Given the description of an element on the screen output the (x, y) to click on. 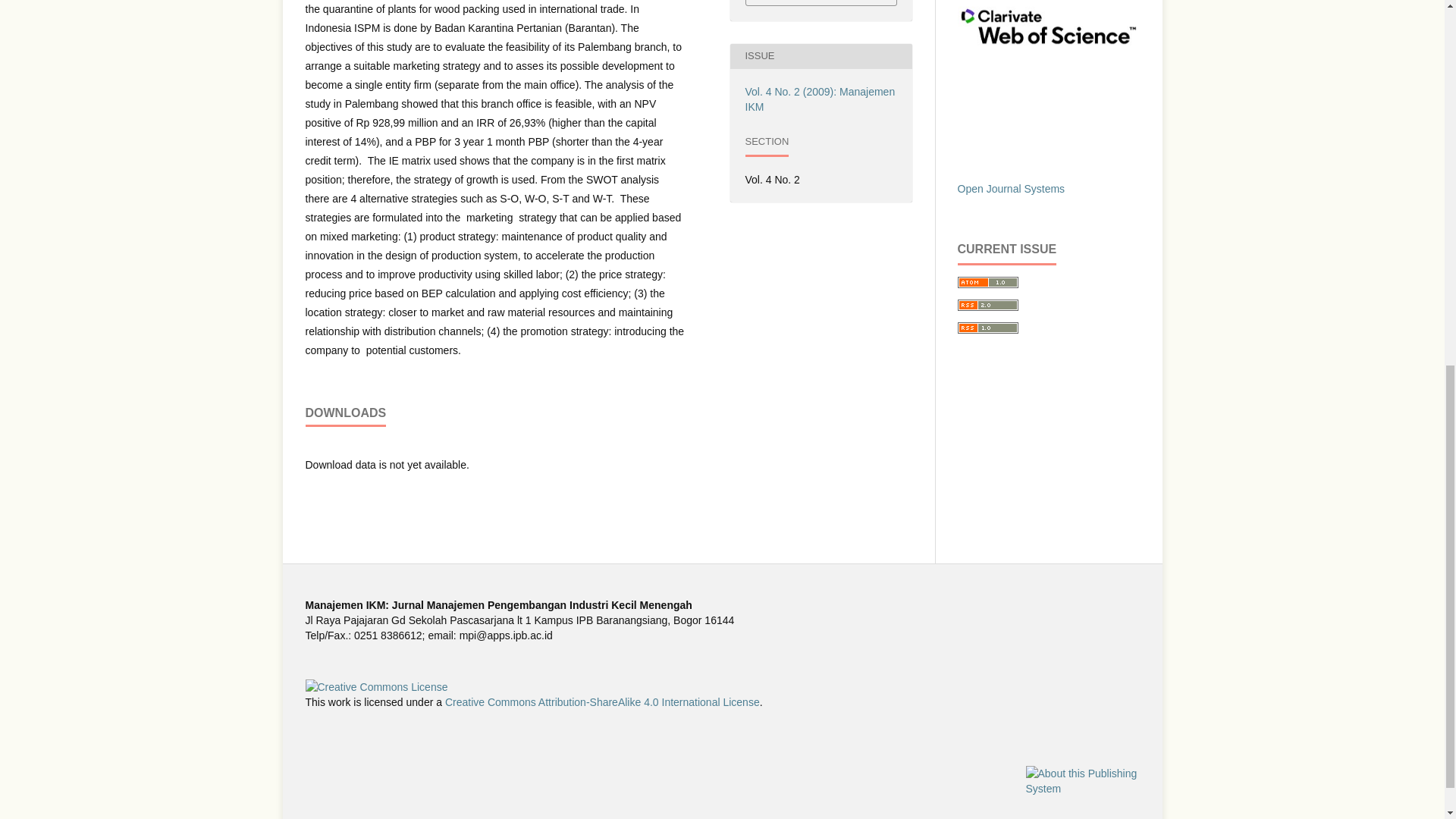
More Citation Formats (820, 2)
